Given the description of an element on the screen output the (x, y) to click on. 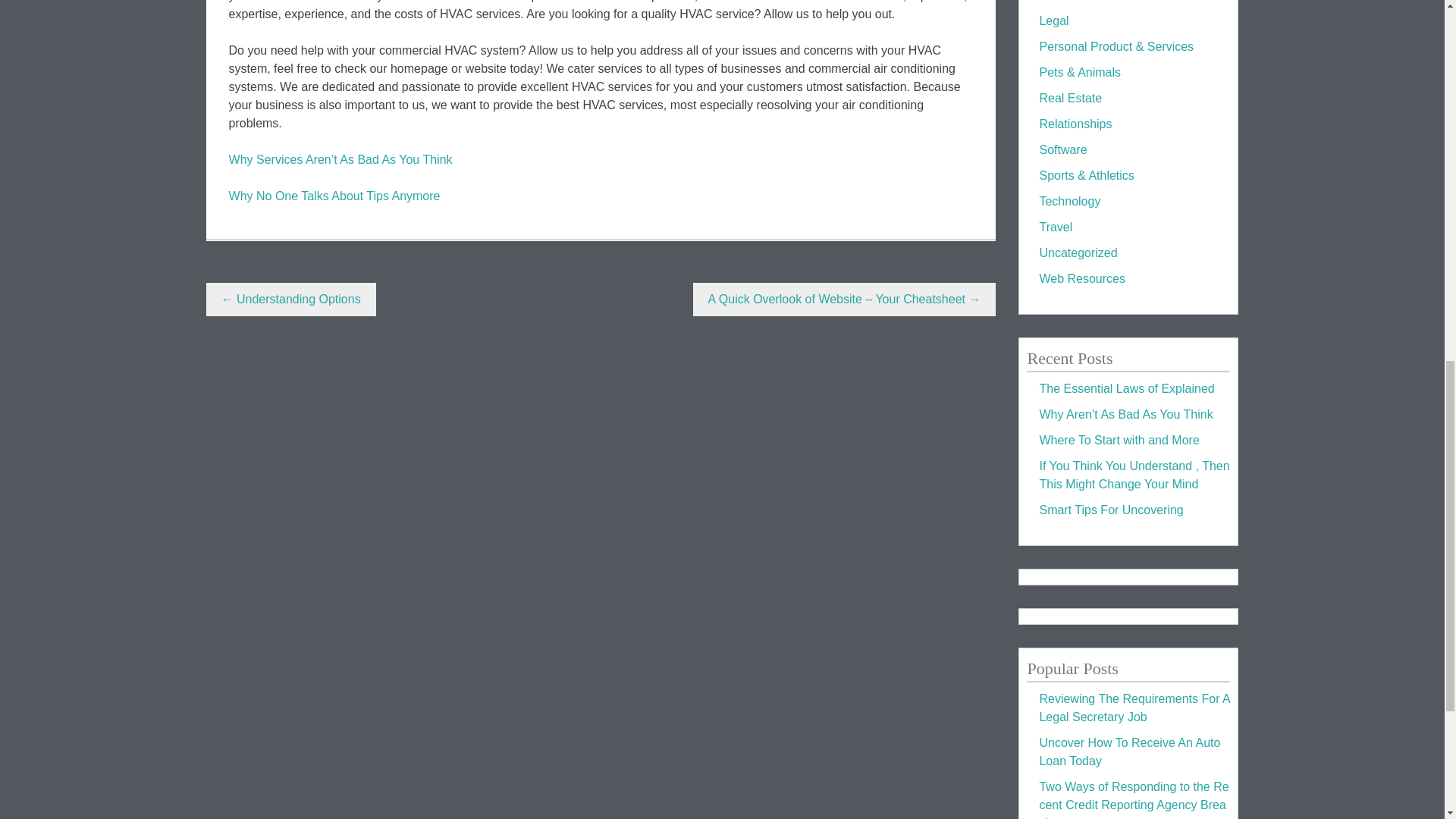
Uncategorized (1077, 252)
Real Estate (1070, 97)
Internet Services (1084, 0)
Why No One Talks About Tips Anymore (334, 195)
Software (1062, 149)
Uncover How To Receive An Auto Loan Today (1129, 751)
Relationships (1075, 123)
Reviewing The Requirements For A Legal Secretary Job (1133, 707)
Web Resources (1082, 278)
